Given the description of an element on the screen output the (x, y) to click on. 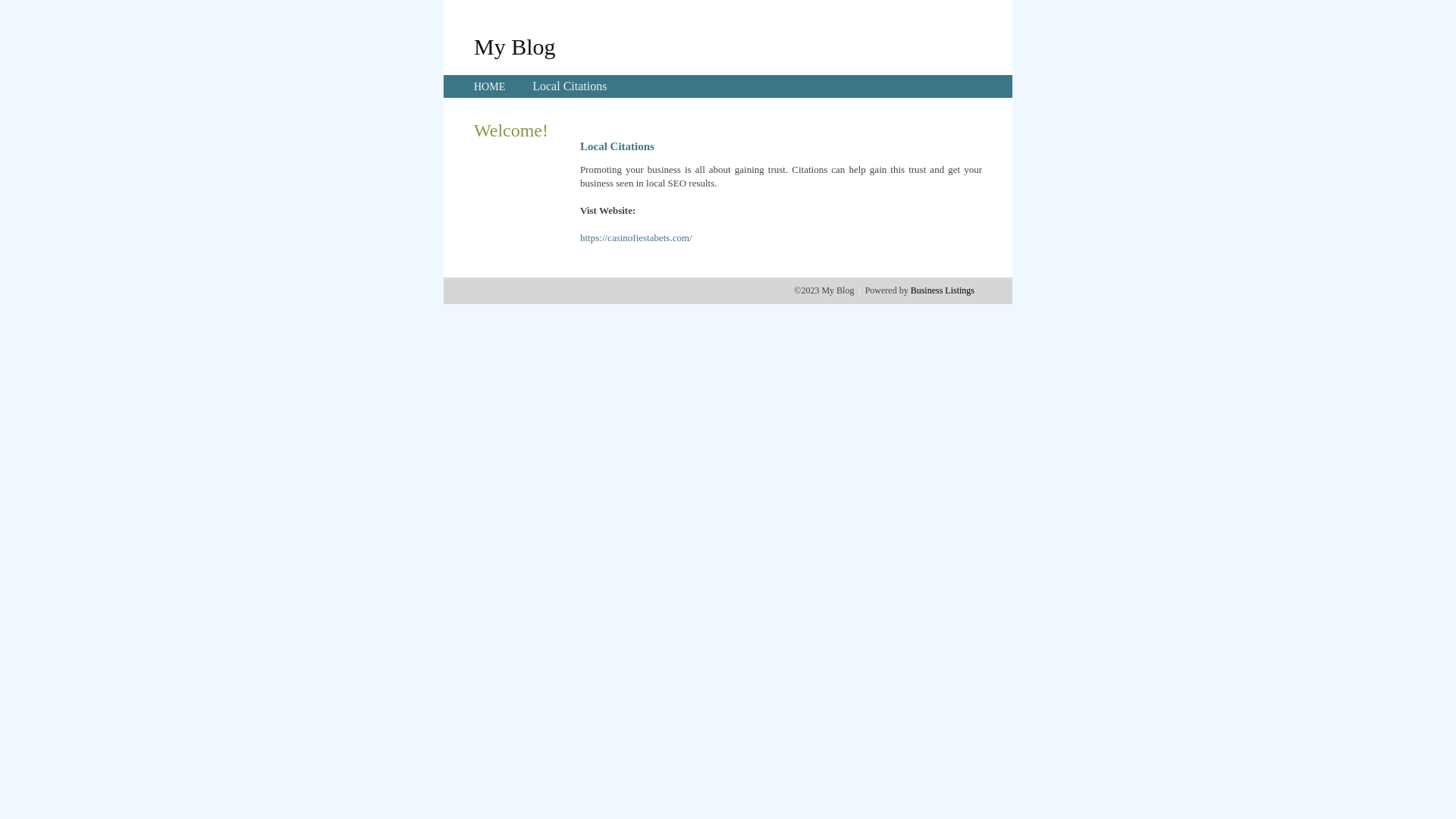
HOME Element type: text (489, 86)
My Blog Element type: text (514, 46)
https://casinofiestabets.com/ Element type: text (636, 237)
Business Listings Element type: text (942, 290)
Local Citations Element type: text (569, 85)
